Given the description of an element on the screen output the (x, y) to click on. 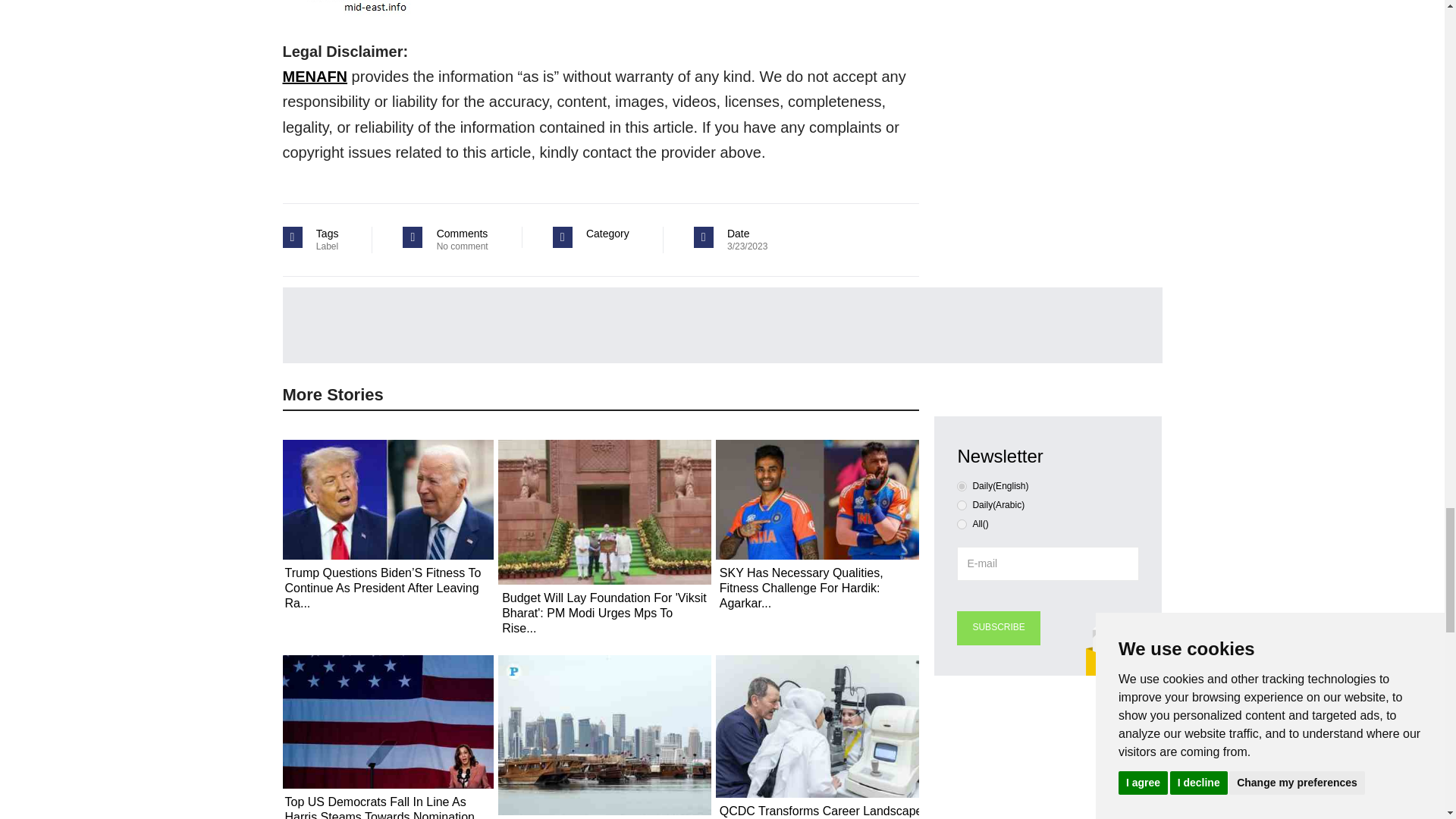
1 (961, 505)
0 (961, 486)
Subscribe (997, 627)
2 (961, 524)
